Given the description of an element on the screen output the (x, y) to click on. 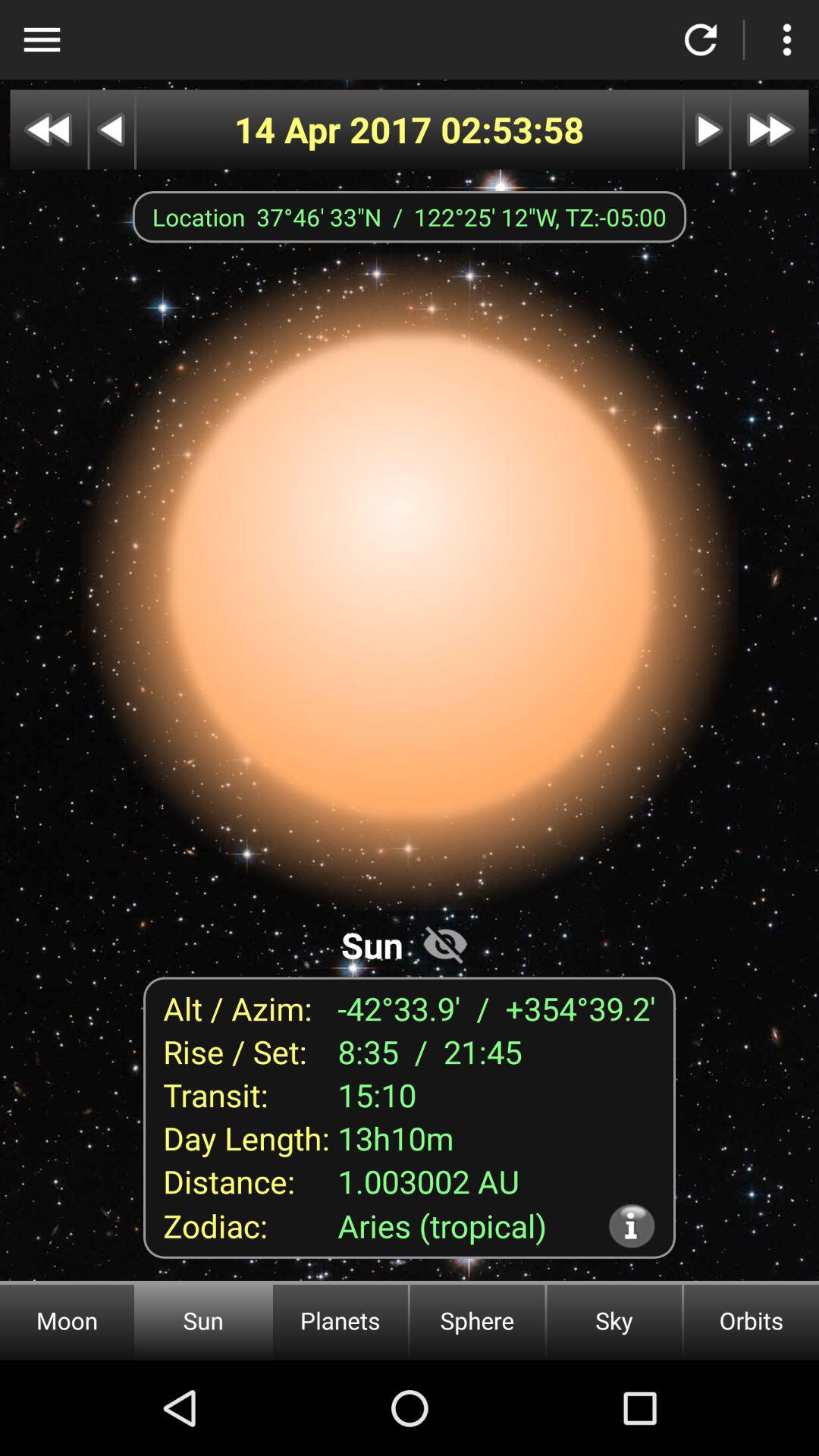
go to previous (111, 129)
